Given the description of an element on the screen output the (x, y) to click on. 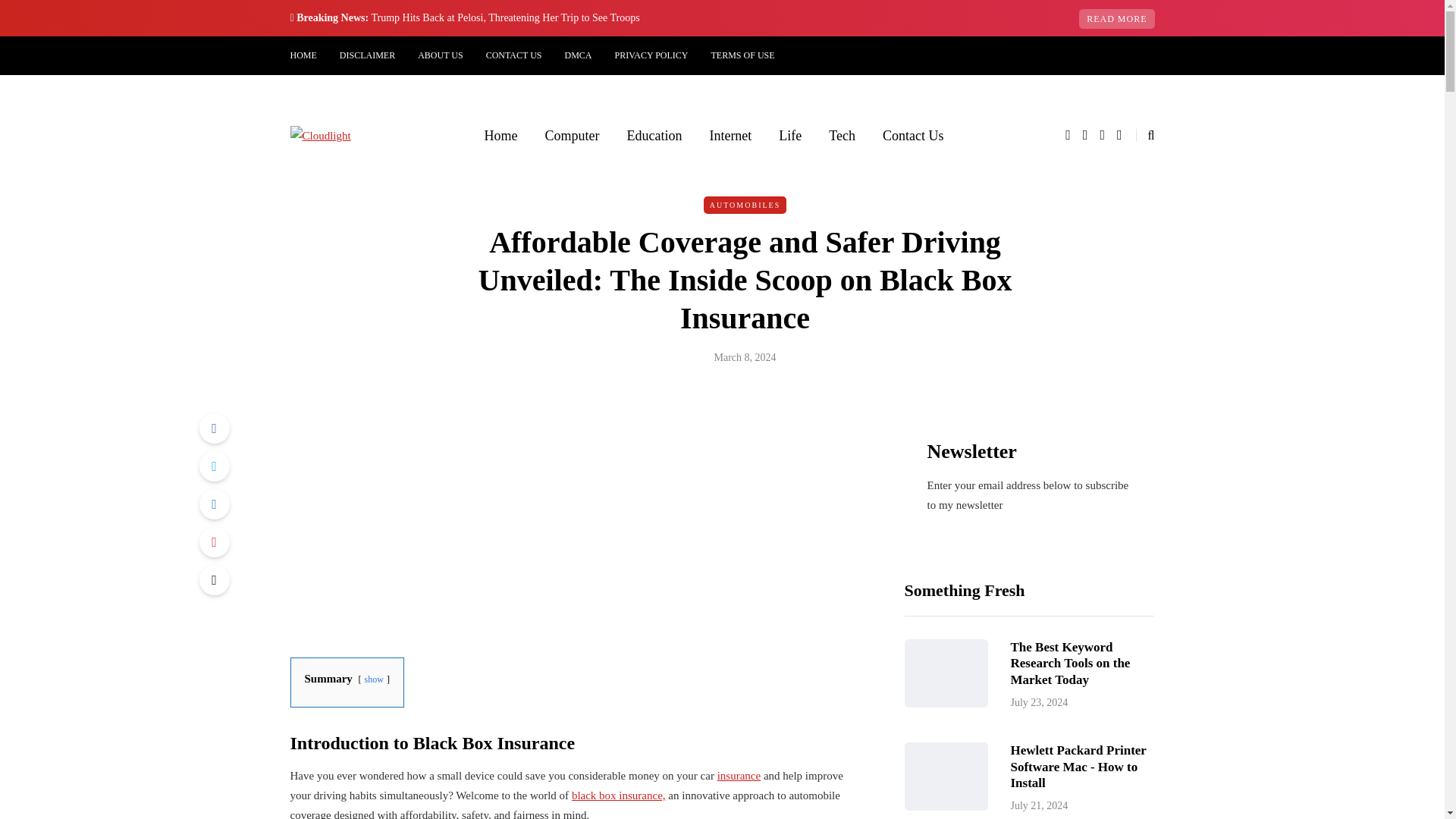
CONTACT US (513, 55)
READ MORE (1116, 18)
DISCLAIMER (367, 55)
PRIVACY POLICY (652, 55)
Internet (730, 135)
DMCA (577, 55)
Life (790, 135)
Share with Facebook (213, 428)
ABOUT US (440, 55)
Home (500, 135)
Contact Us (913, 135)
Computer (571, 135)
Education (653, 135)
Tweet this (213, 466)
